Given the description of an element on the screen output the (x, y) to click on. 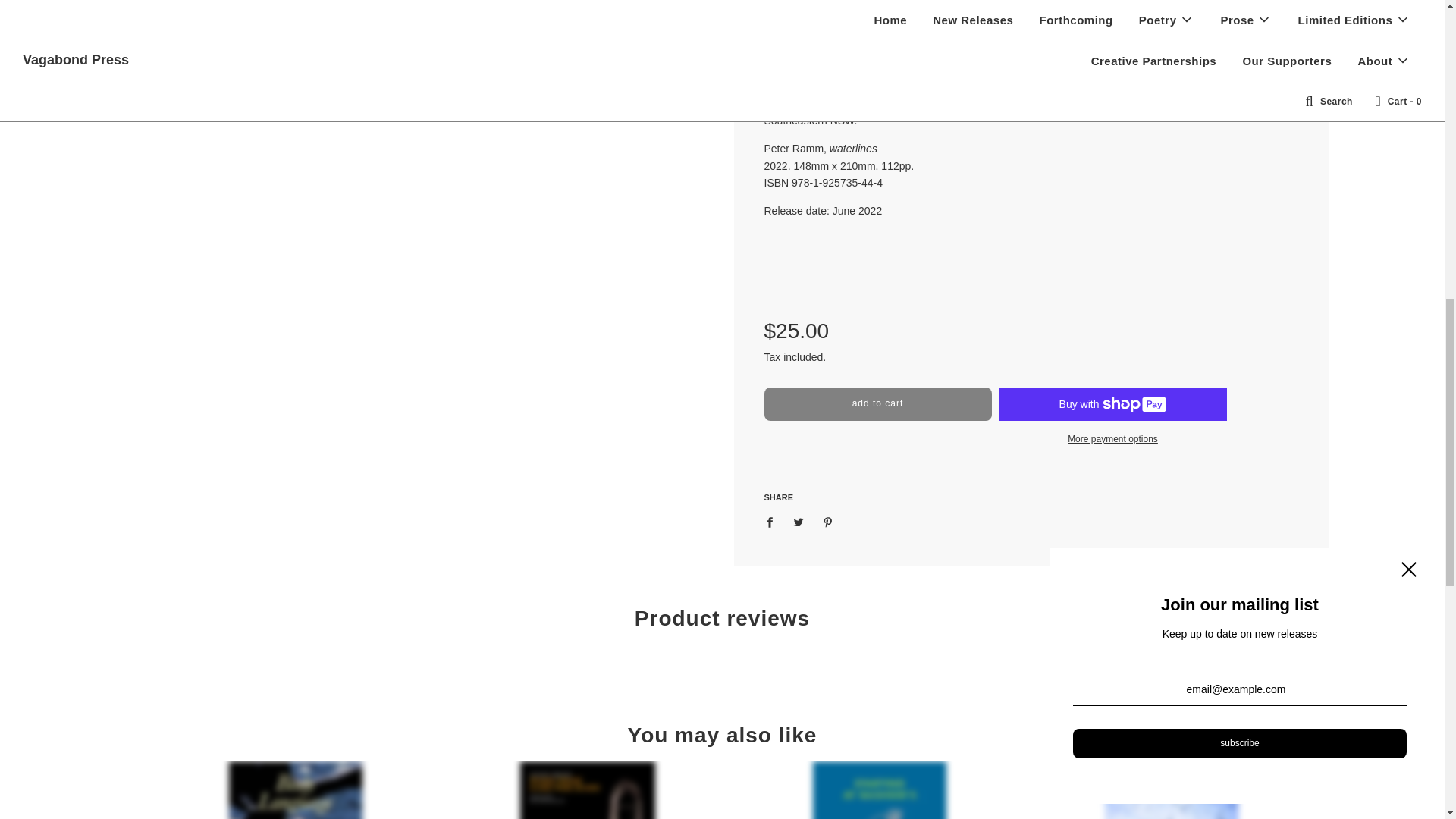
Ken Bolton, Starting at Basheer's (878, 790)
Avianti Armand, Women Whose Names Were Erased (587, 790)
Elizabeth Allen, Body Language (294, 790)
Peter Boyle, Ghostspeaking (1171, 790)
